Given the description of an element on the screen output the (x, y) to click on. 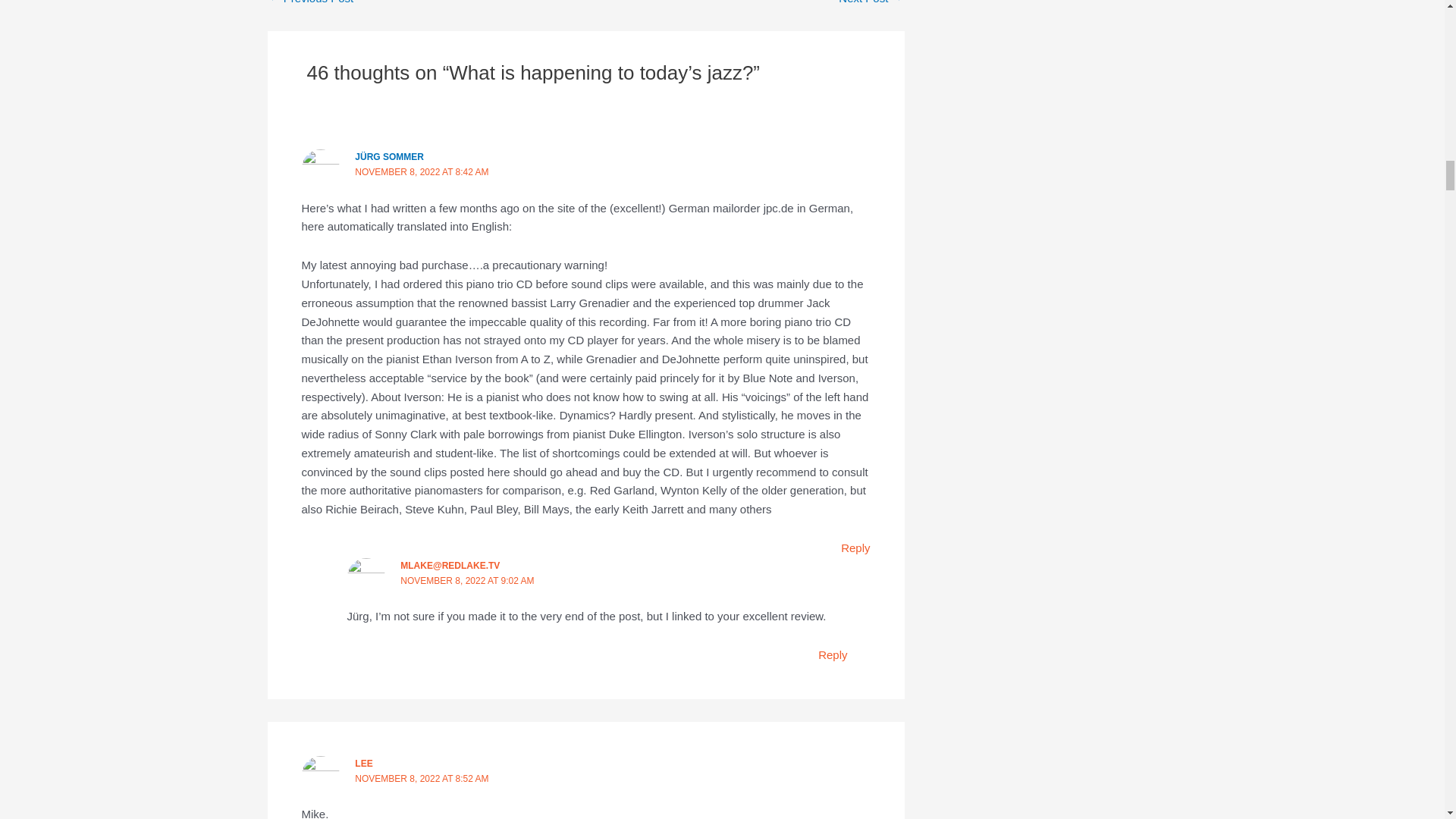
Proposal for Dan Dance (870, 2)
Marketing for musicians (310, 2)
NOVEMBER 8, 2022 AT 9:02 AM (467, 580)
Reply (855, 547)
Reply (832, 654)
LEE (363, 763)
NOVEMBER 8, 2022 AT 8:42 AM (421, 172)
NOVEMBER 8, 2022 AT 8:52 AM (421, 778)
